Given the description of an element on the screen output the (x, y) to click on. 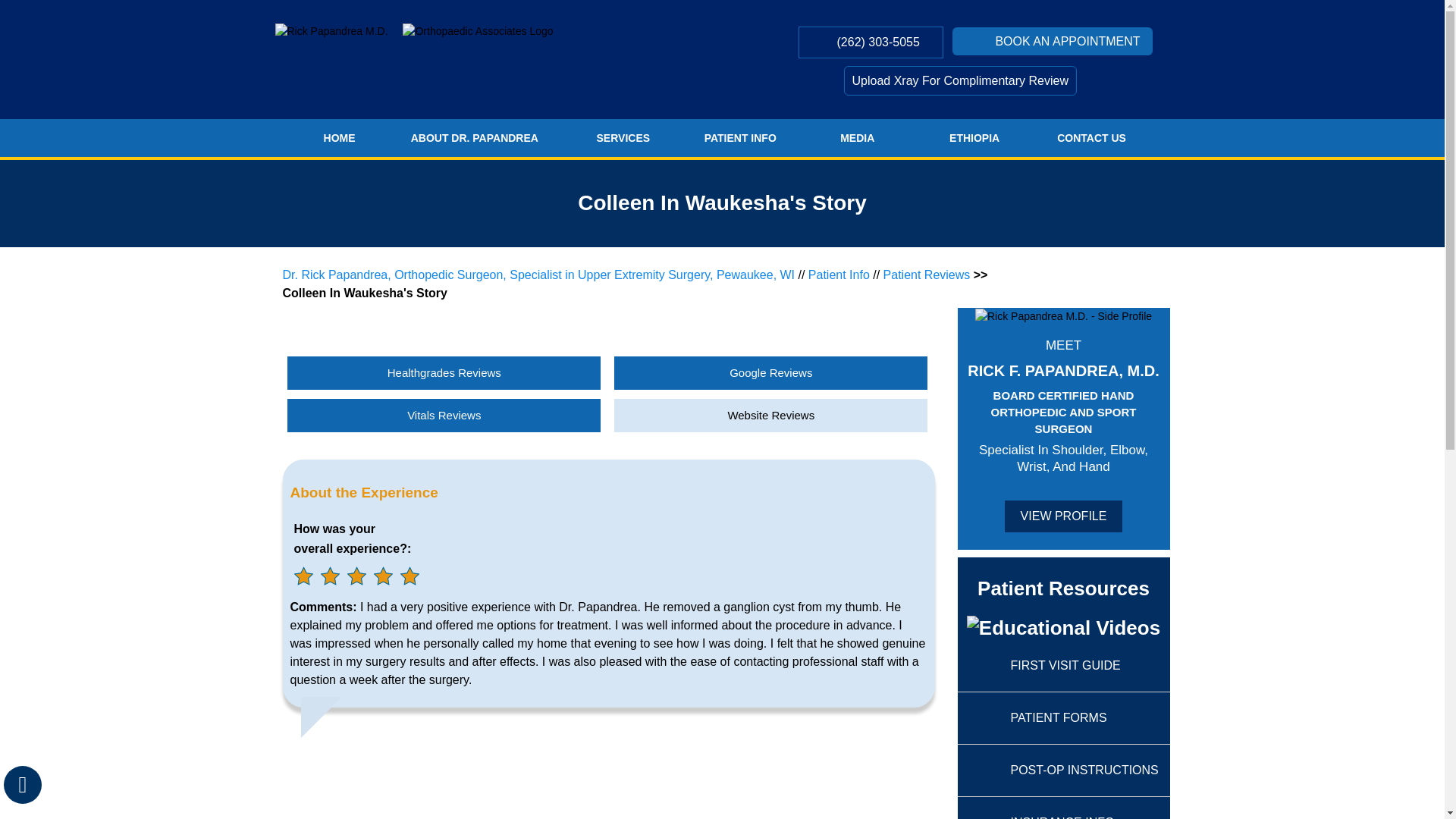
PATIENT INFO (739, 137)
Accessible Tool Options (23, 784)
HOME (339, 137)
BOOK AN APPOINTMENT (1051, 41)
ABOUT DR. PAPANDREA (474, 137)
SERVICES (622, 137)
Upload Xray For Complimentary Review (959, 80)
MEDIA (856, 137)
Hide (22, 784)
